Given the description of an element on the screen output the (x, y) to click on. 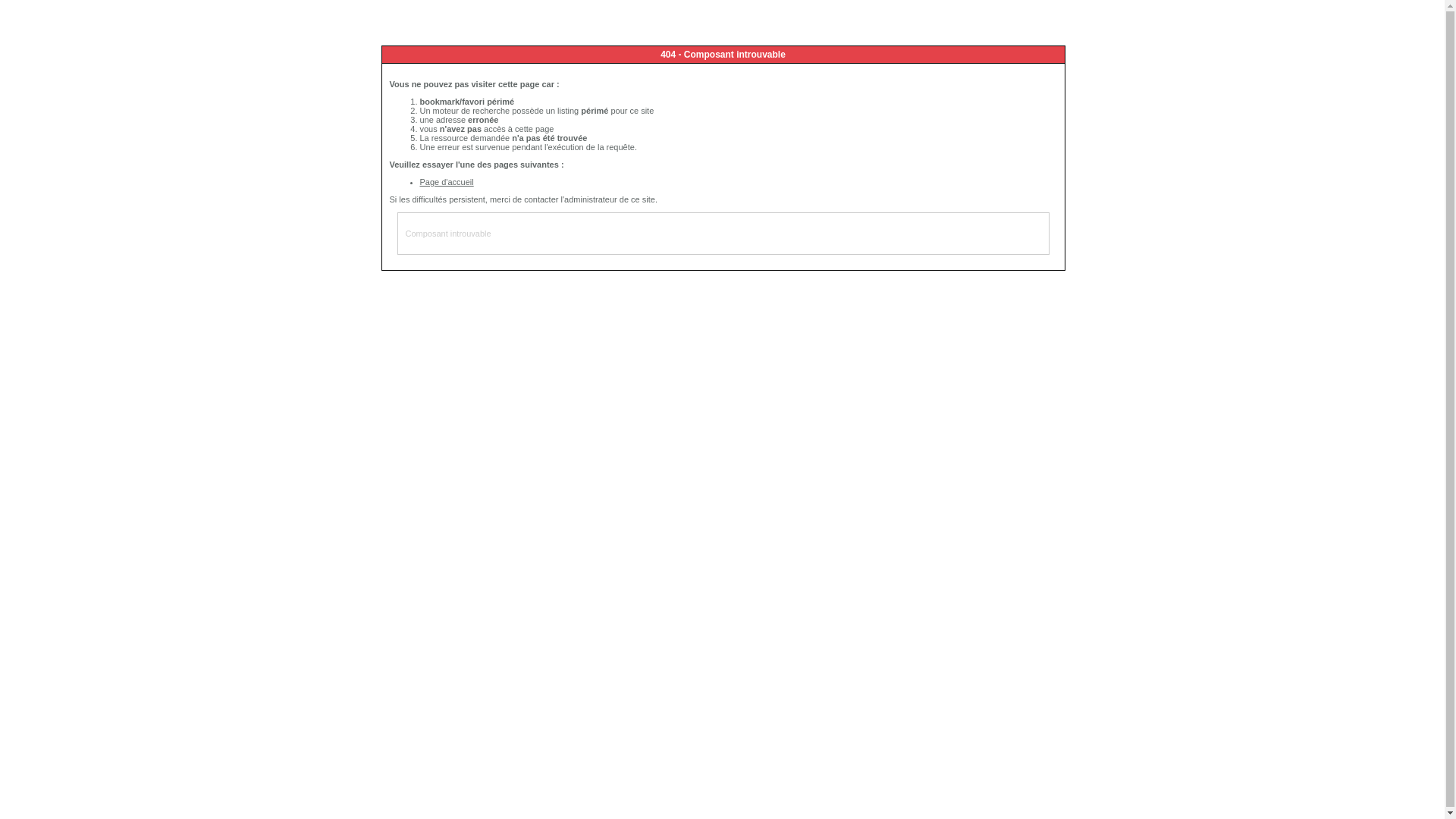
Page d'accueil Element type: text (446, 181)
